Given the description of an element on the screen output the (x, y) to click on. 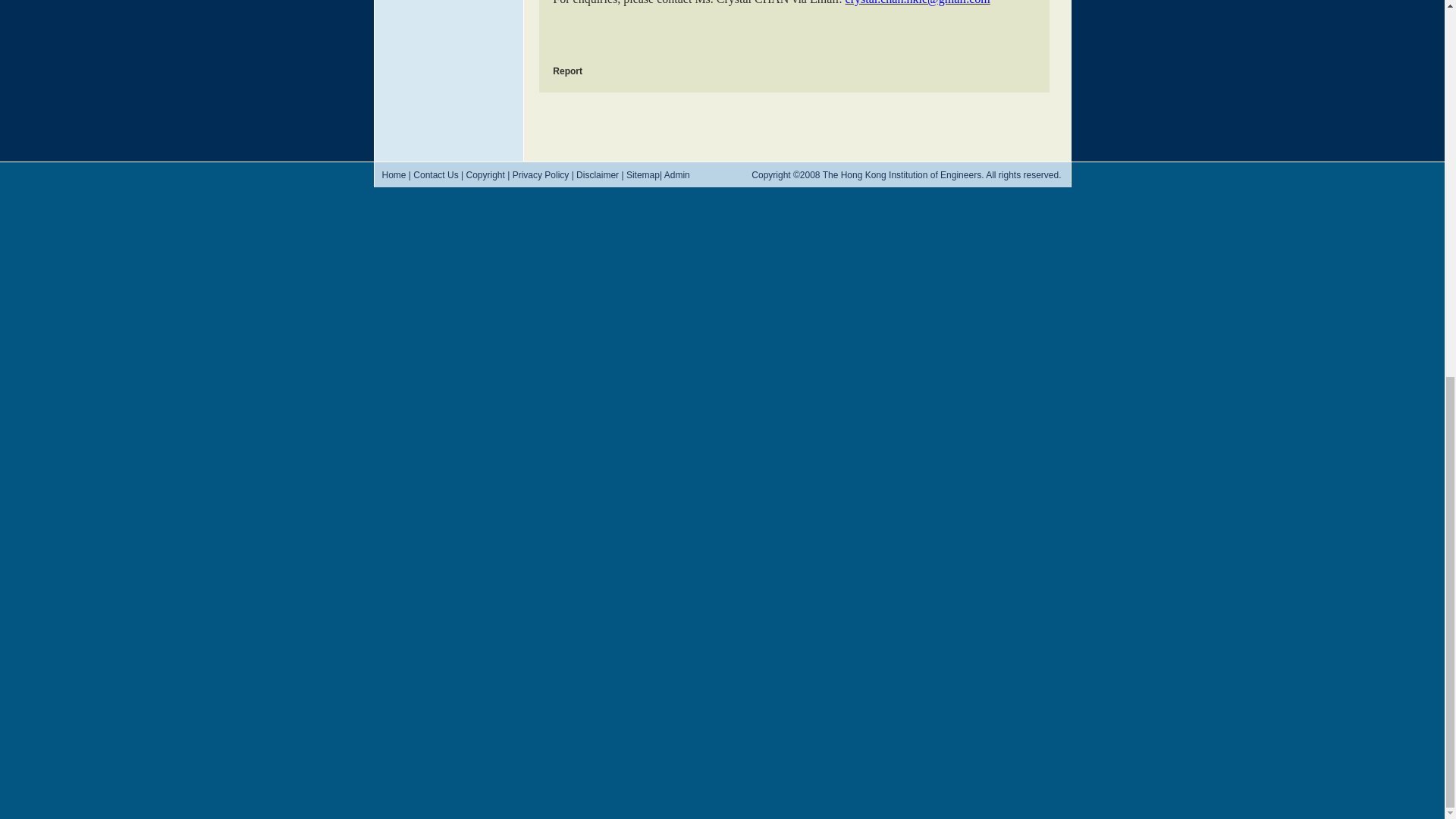
Home (393, 174)
Sitemap (642, 174)
Contact Us (435, 174)
Copyright (484, 174)
Disclaimer (597, 174)
Privacy Policy (540, 174)
Admin (676, 174)
